Given the description of an element on the screen output the (x, y) to click on. 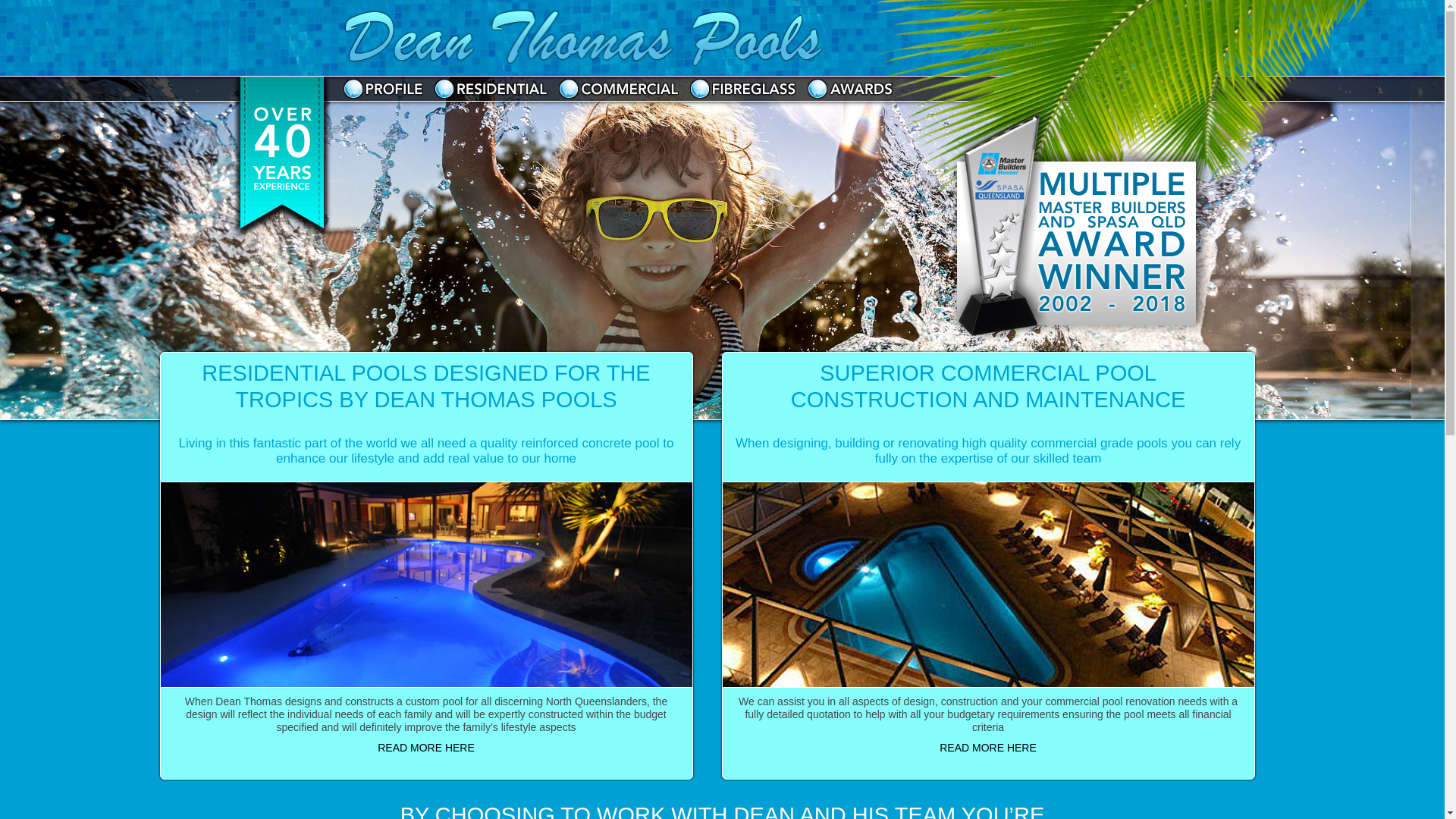
2 Element type: hover (722, 247)
READ MORE HERE Element type: text (987, 747)
READ MORE HERE Element type: text (425, 747)
